Given the description of an element on the screen output the (x, y) to click on. 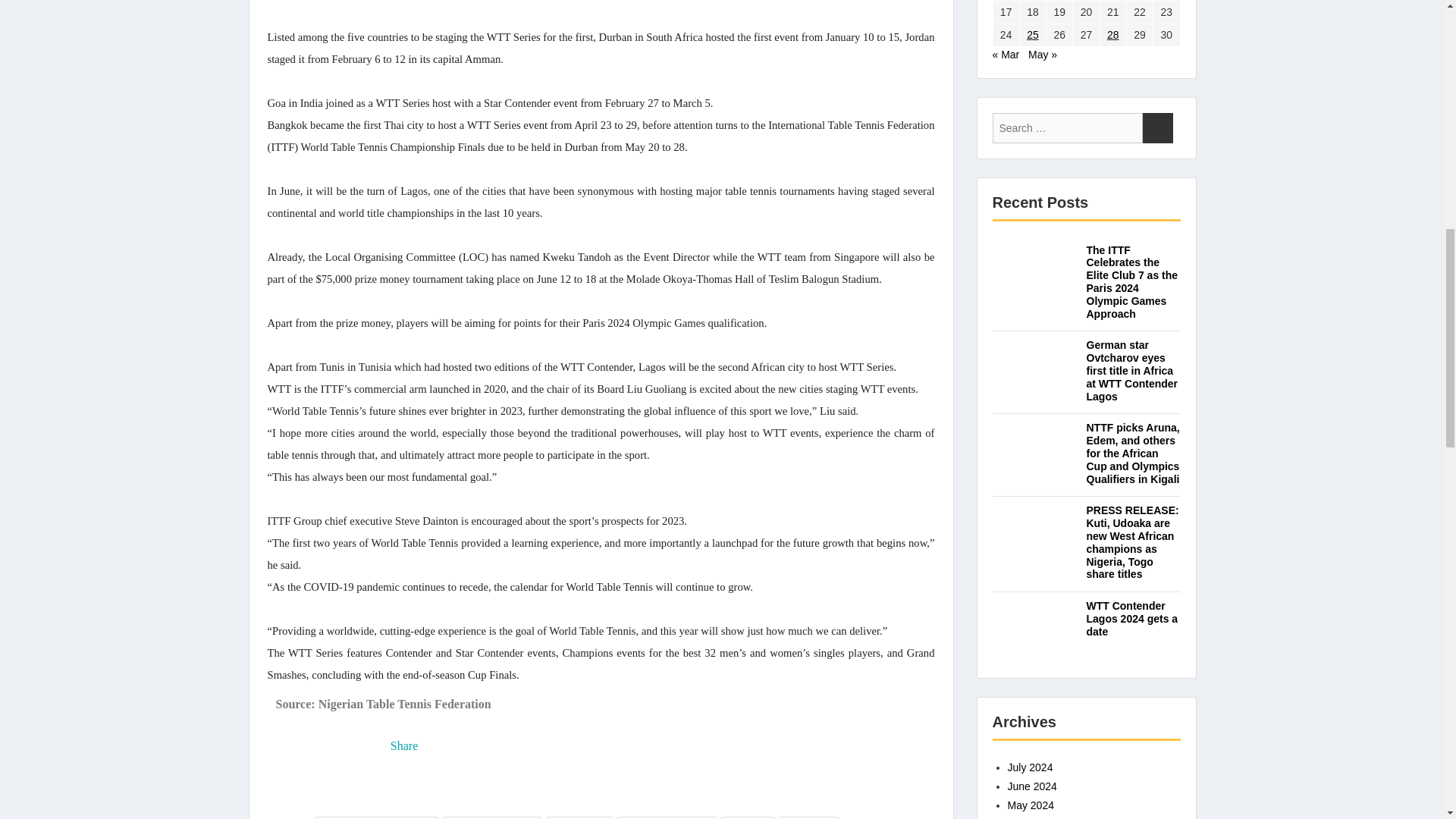
Algerian Table Tennis (492, 817)
Felix Larte (747, 817)
Egyptian Table Tennis (666, 817)
Aruna Quadri (579, 817)
Share (403, 745)
Search (1156, 128)
Felix Lartey (810, 817)
Search for: (1066, 128)
African Doubles Champions (377, 817)
